Given the description of an element on the screen output the (x, y) to click on. 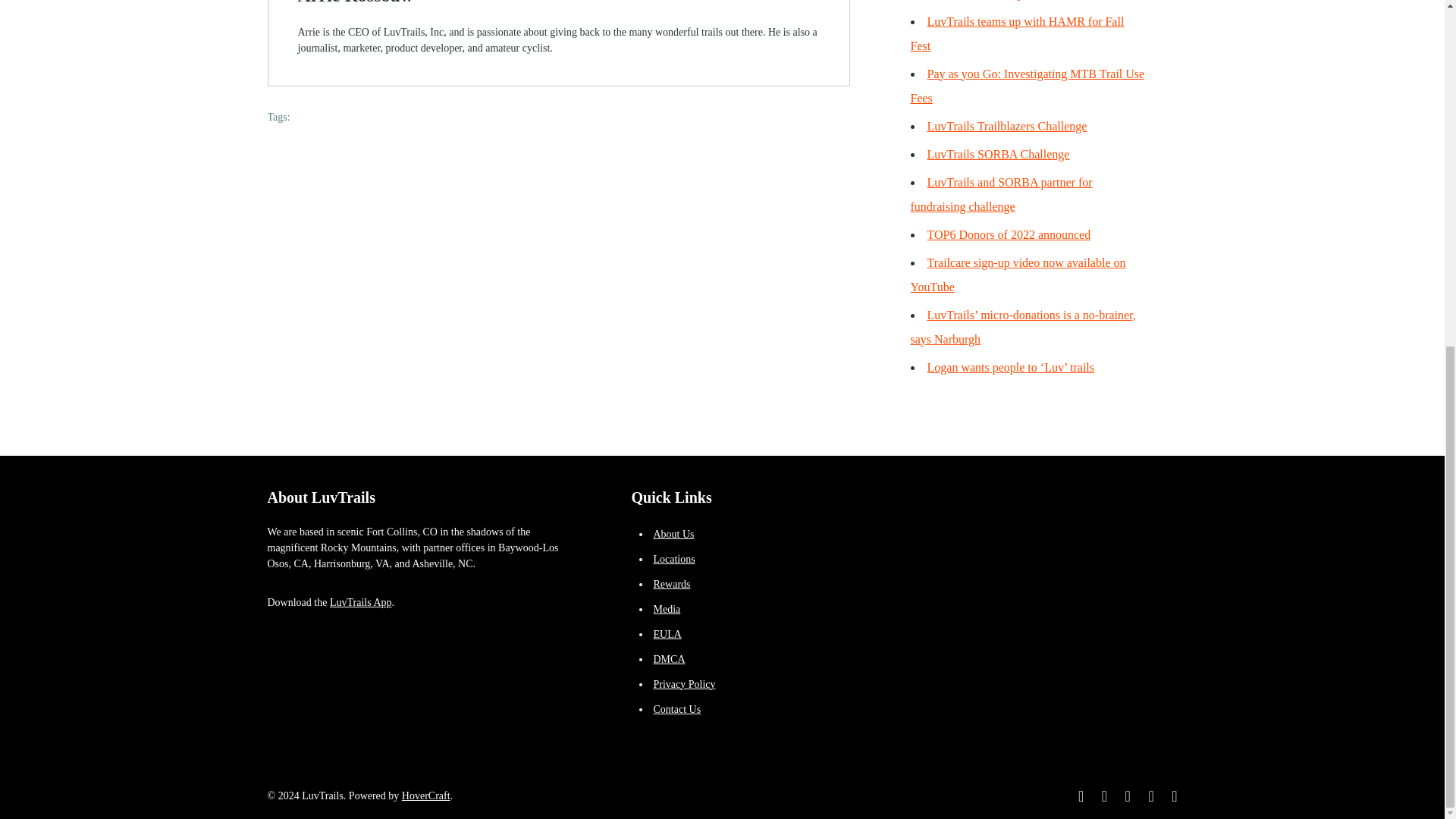
LuvTrails Trailblazers Challenge (1006, 125)
LuvTrails teams up with HAMR for Fall Fest (1017, 33)
TOP6 Donors of 2022 announced (1008, 234)
Pay as you Go: Investigating MTB Trail Use Fees (1027, 85)
LuvTrails SORBA Challenge (997, 154)
LuvTrails and SORBA partner for fundraising challenge (1001, 194)
